Given the description of an element on the screen output the (x, y) to click on. 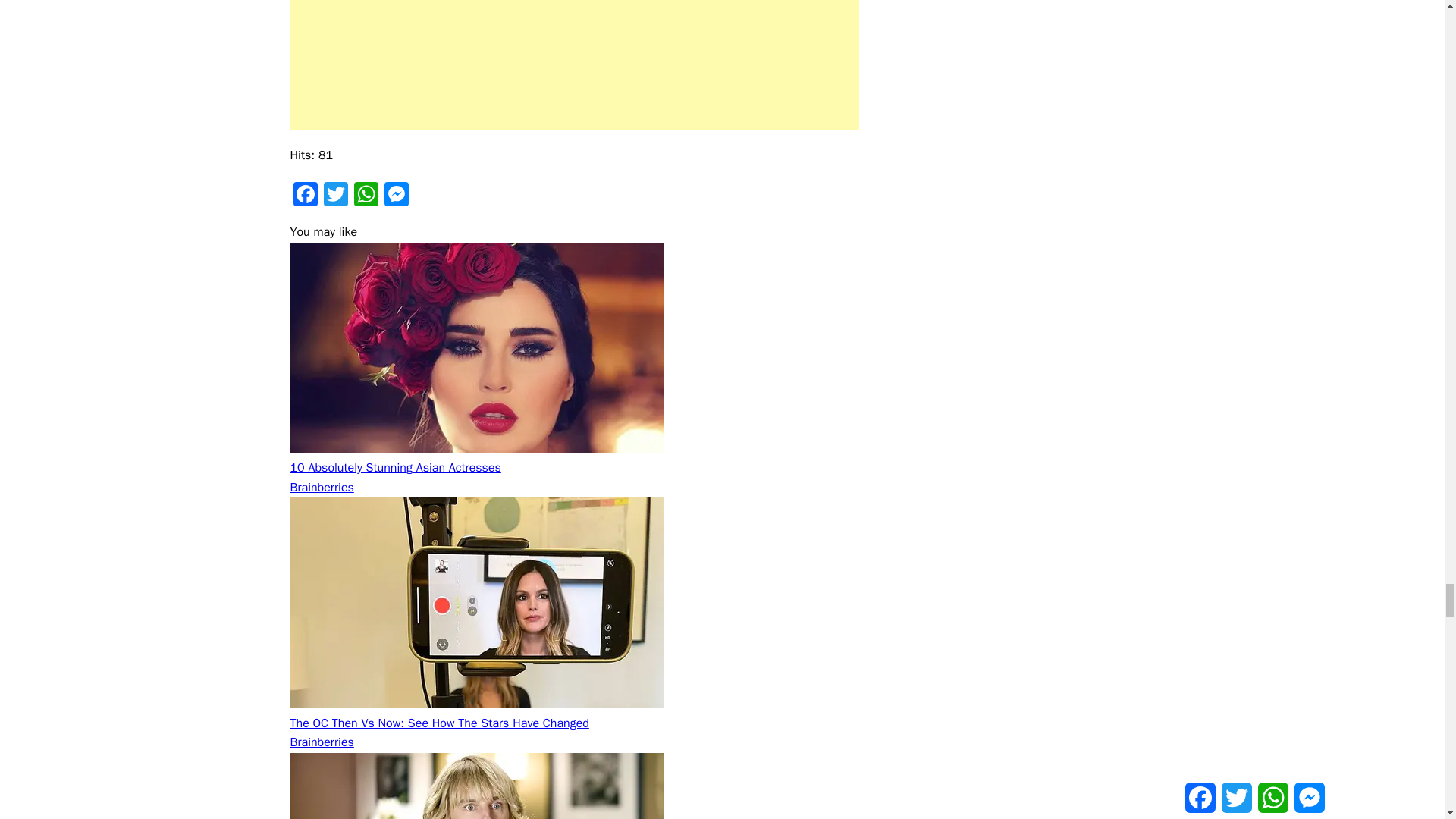
Messenger (395, 195)
WhatsApp (365, 195)
Twitter (335, 195)
Messenger (395, 195)
Facebook (304, 195)
WhatsApp (365, 195)
Facebook (304, 195)
Twitter (335, 195)
